Given the description of an element on the screen output the (x, y) to click on. 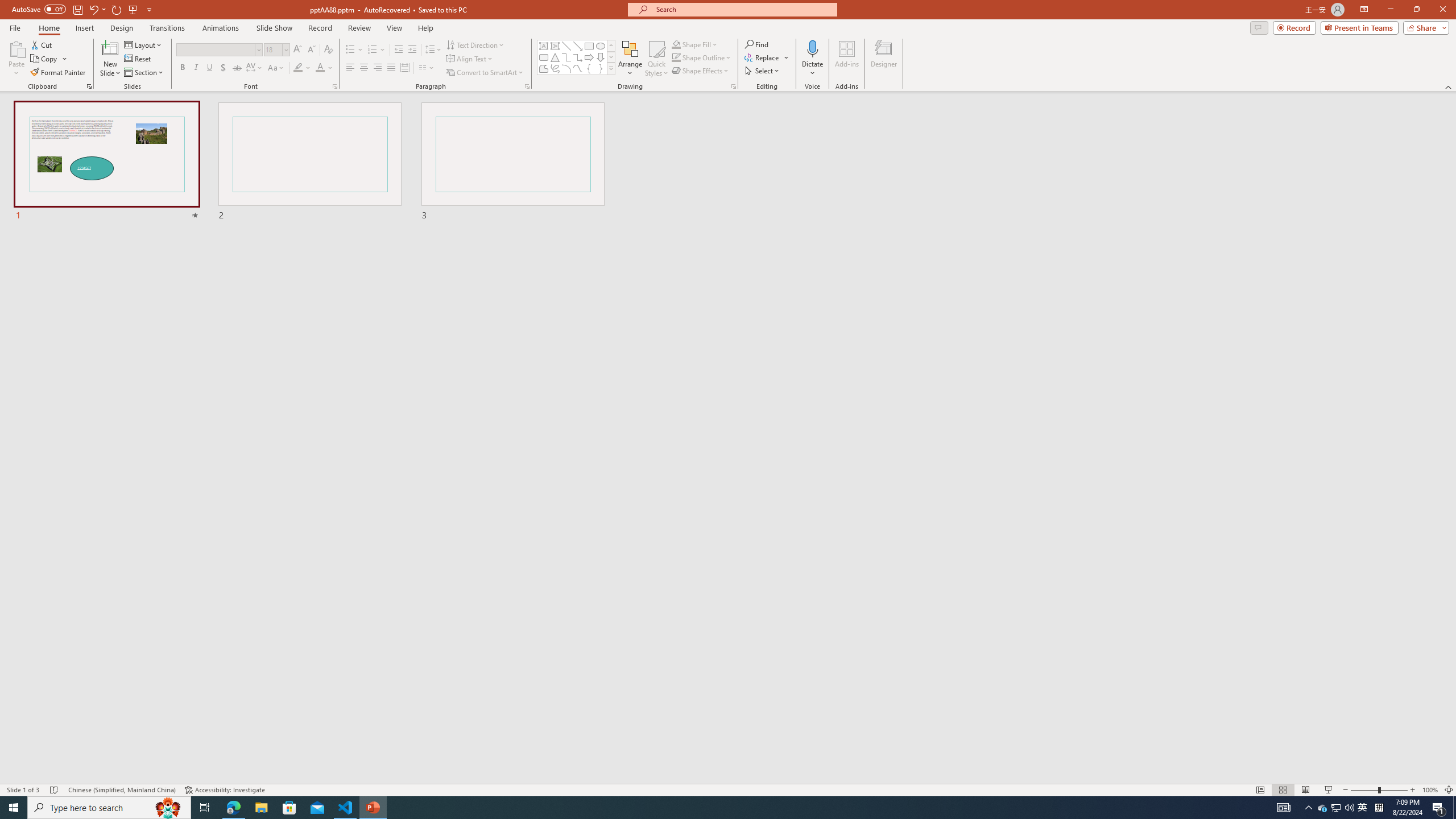
Arrow: Down (600, 57)
Justify (390, 67)
Transitions (167, 28)
Dictate (812, 48)
Center (363, 67)
Shape Fill Aqua, Accent 2 (675, 44)
Rectangle (589, 45)
Character Spacing (254, 67)
Numbering (372, 49)
Arc (566, 68)
Text Highlight Color Yellow (297, 67)
Design (122, 28)
Decrease Font Size (310, 49)
Slide Sorter (1282, 790)
